Given the description of an element on the screen output the (x, y) to click on. 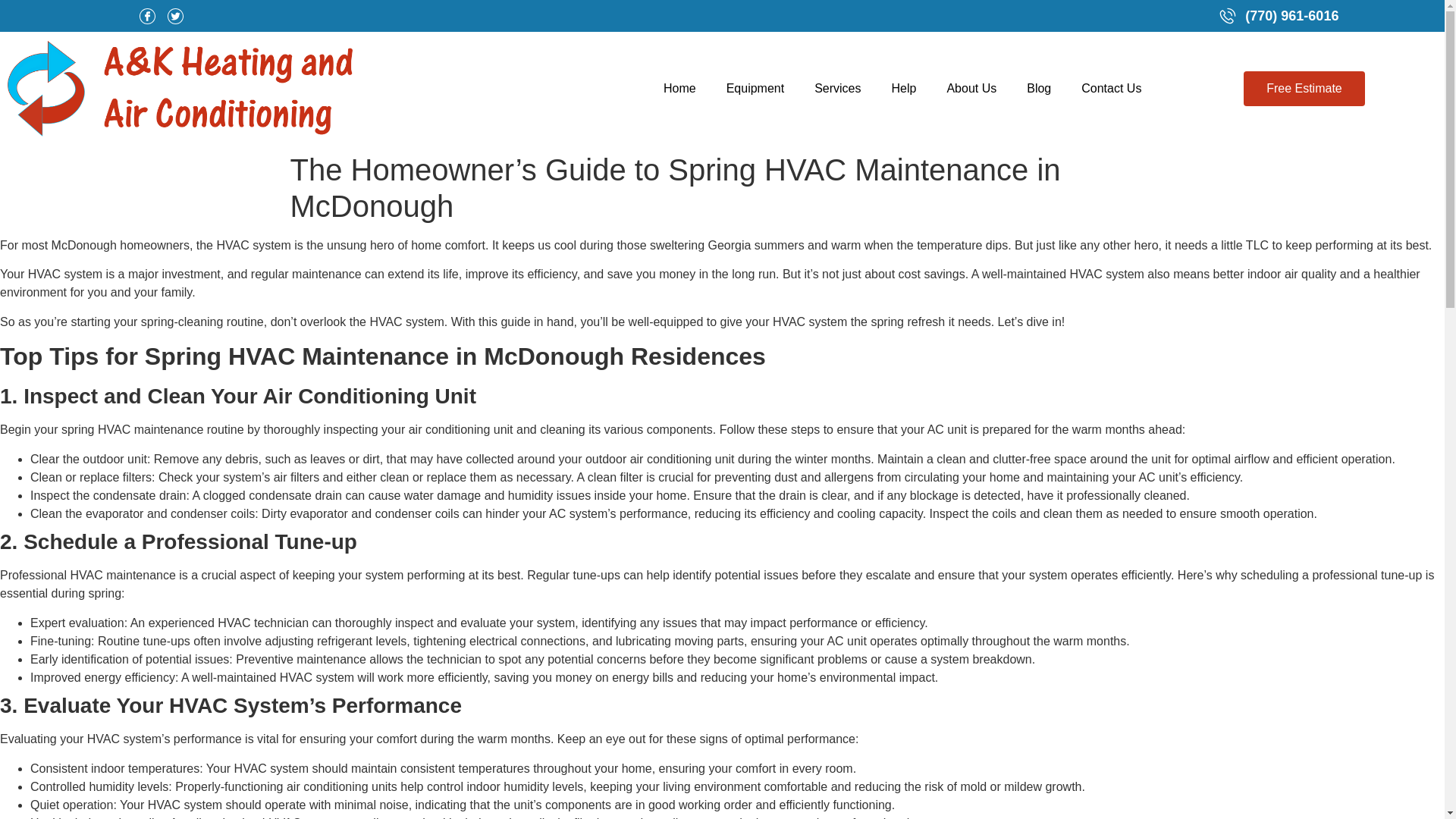
Help (903, 88)
Equipment (755, 88)
Blog (1038, 88)
Home (679, 88)
Contact Us (1110, 88)
Services (837, 88)
About Us (971, 88)
